Given the description of an element on the screen output the (x, y) to click on. 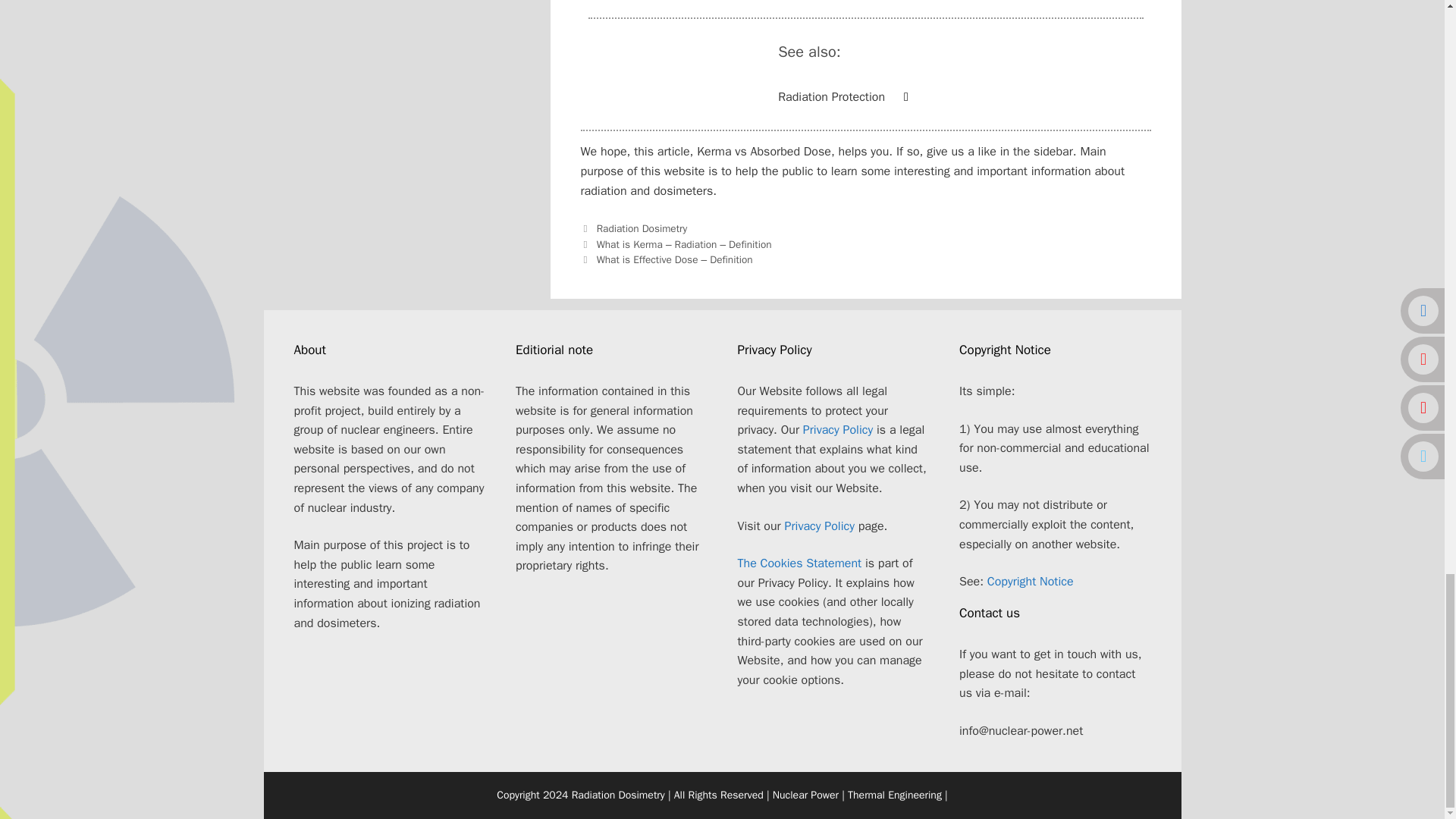
Next (666, 259)
Radiation Dosimetry (641, 228)
Privacy Policy (837, 429)
Privacy Policy (818, 525)
Previous (675, 244)
